Given the description of an element on the screen output the (x, y) to click on. 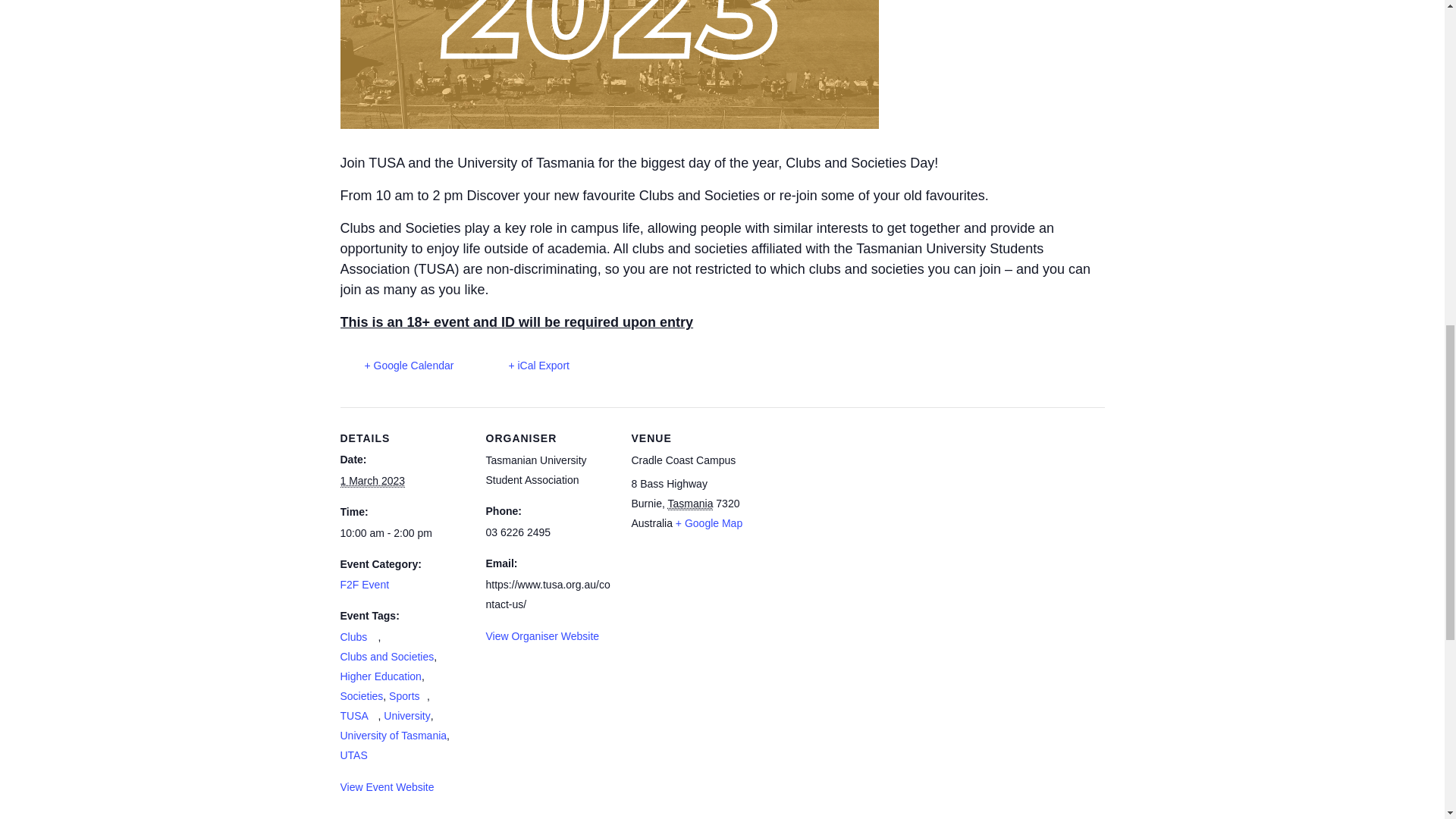
Download .ics file (526, 366)
Add to Google Calendar (395, 366)
Tasmania (689, 503)
2023-03-01 (371, 481)
Click to view a Google Map (708, 523)
2023-03-01 (403, 533)
